Given the description of an element on the screen output the (x, y) to click on. 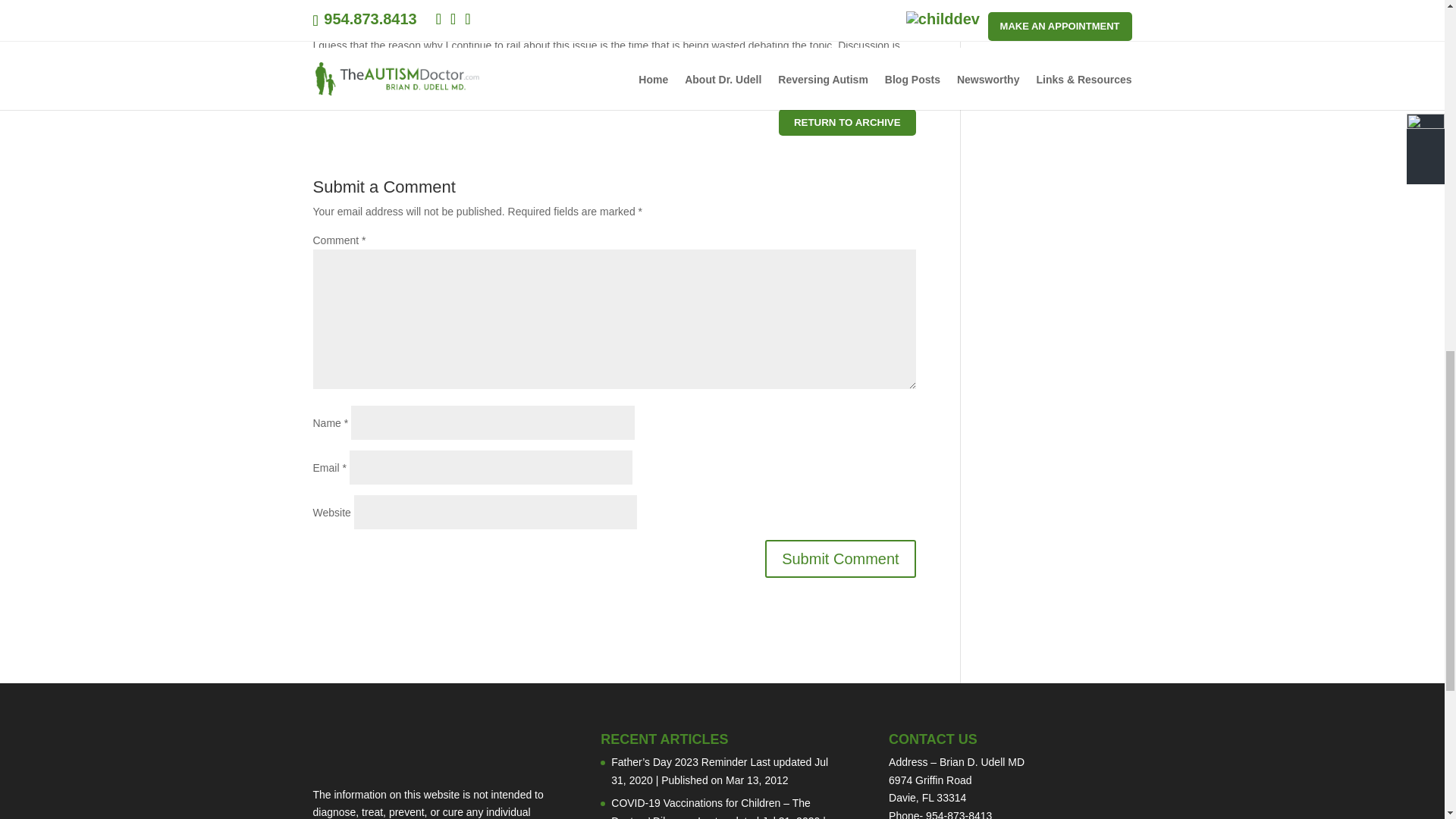
Submit Comment (840, 558)
RETURN TO ARCHIVE (846, 121)
Submit Comment (840, 558)
